Given the description of an element on the screen output the (x, y) to click on. 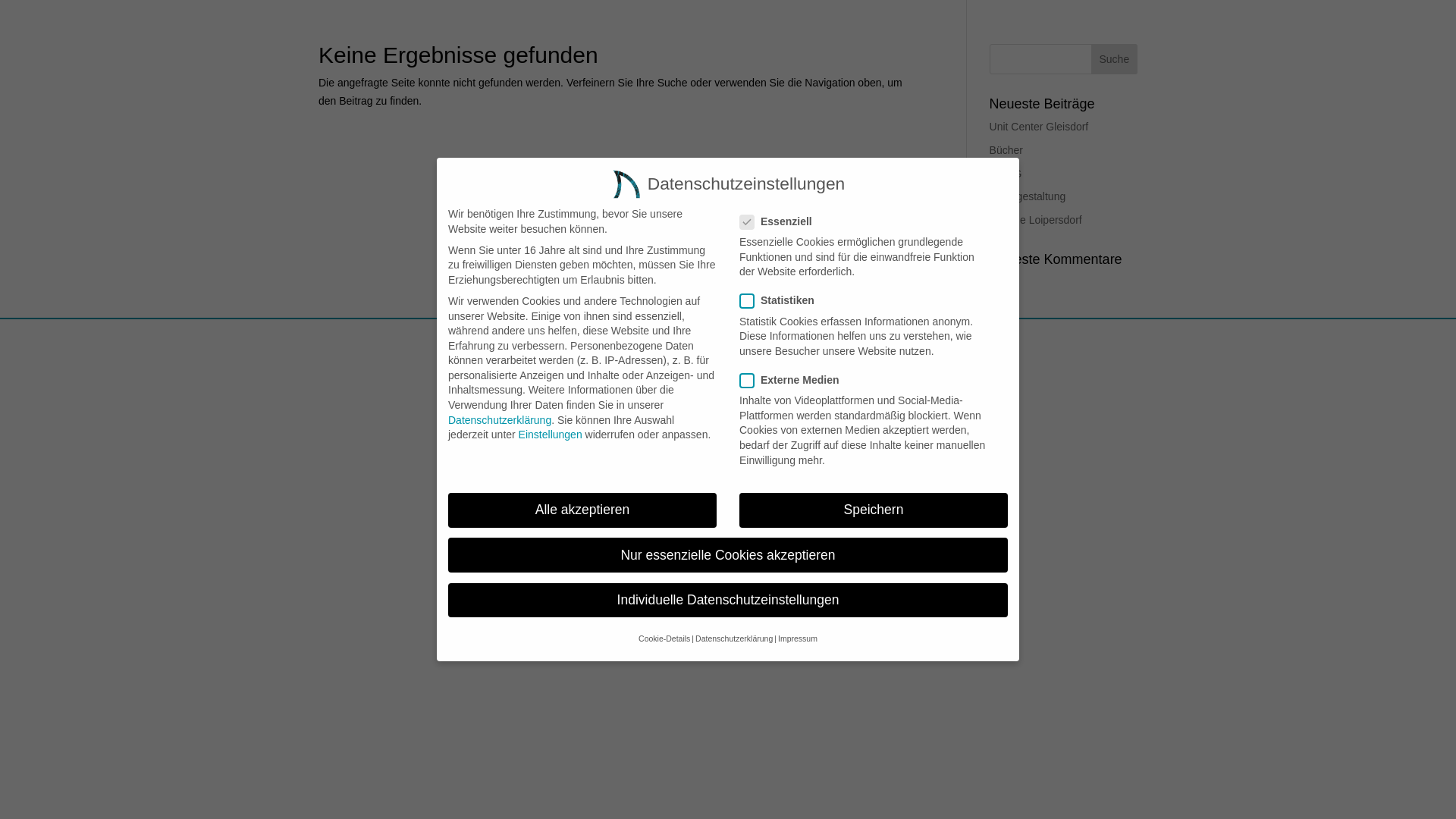
KONTAKT Element type: text (813, 339)
Wandgestaltung Element type: text (1027, 196)
Plan G Element type: text (1005, 173)
Suche Element type: text (1114, 58)
Unit Center Gleisdorf Element type: text (1038, 126)
Einstellungen Element type: text (550, 434)
Speichern Element type: text (873, 509)
Impressum Element type: text (797, 639)
Nur essenzielle Cookies akzeptieren Element type: text (727, 554)
Therme Loipersdorf Element type: text (1035, 219)
Individuelle Datenschutzeinstellungen Element type: text (727, 600)
Alle akzeptieren Element type: text (582, 509)
Cookie-Details Element type: text (664, 639)
IMPRESSUM Element type: text (648, 339)
DATENSCHUTZ Element type: text (735, 339)
